Given the description of an element on the screen output the (x, y) to click on. 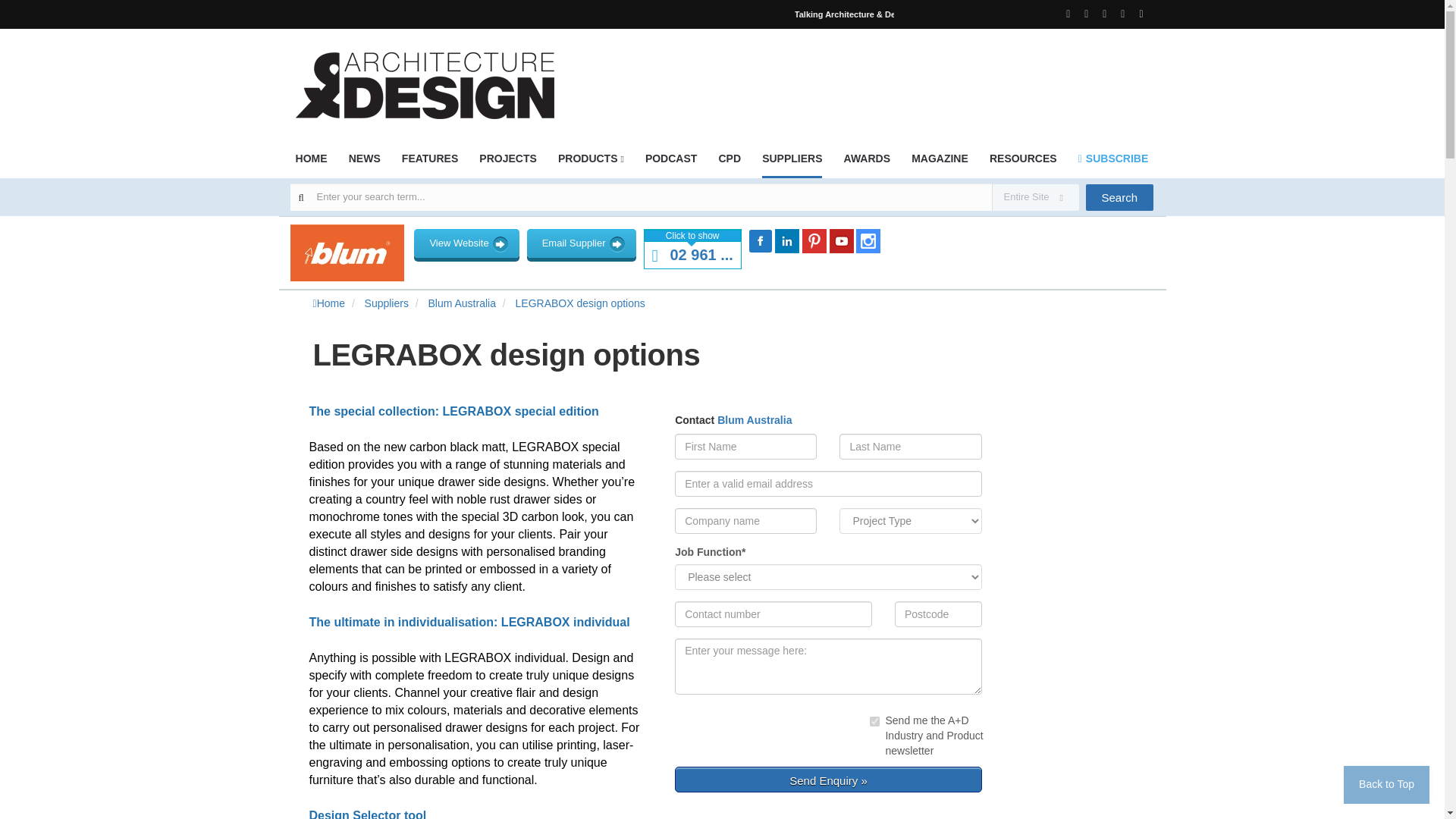
NEWS (364, 163)
on (874, 721)
PRODUCTS (590, 163)
FEATURES (429, 163)
HOME (311, 163)
PROJECTS (507, 163)
